Given the description of an element on the screen output the (x, y) to click on. 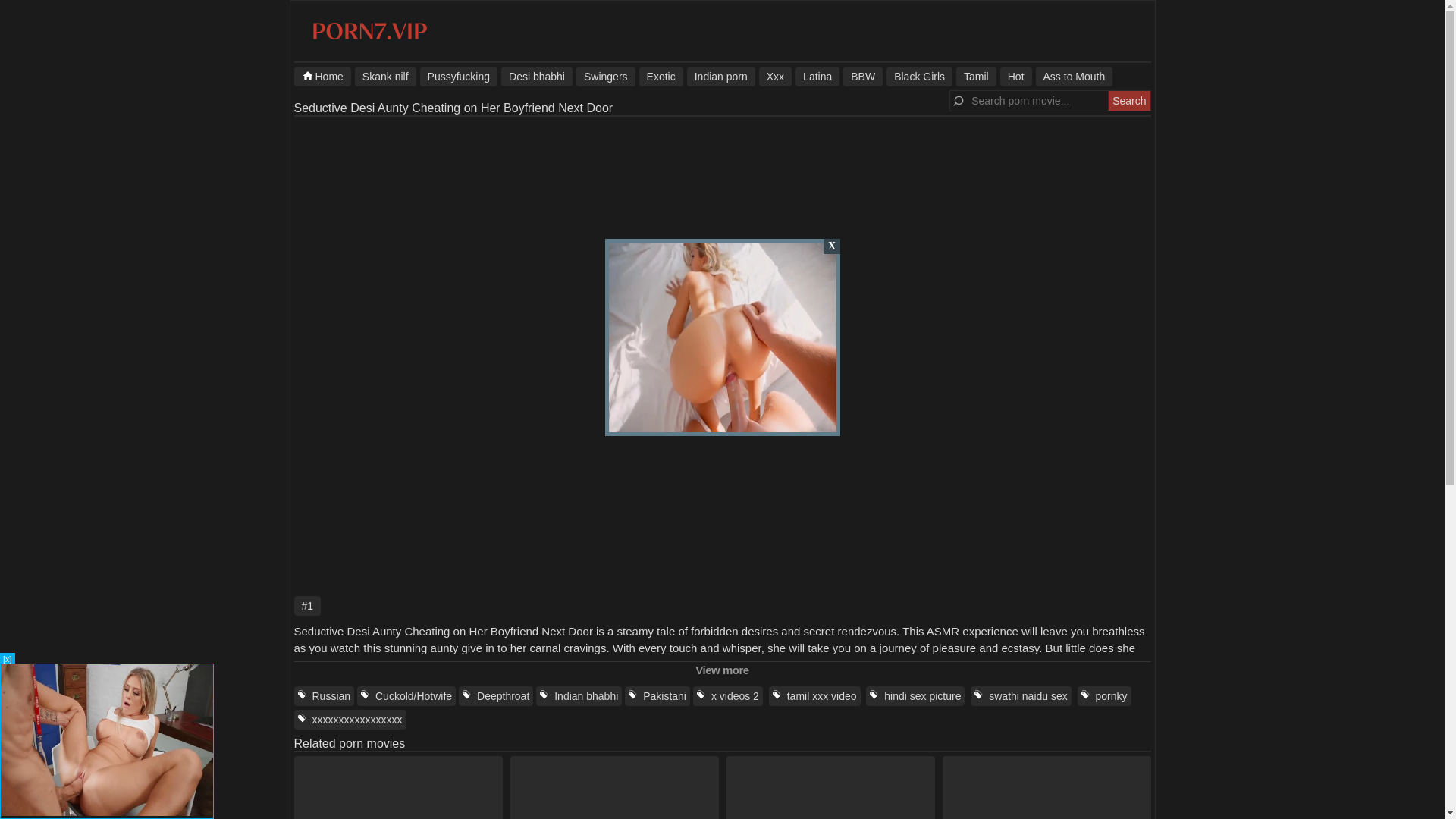
swathi naidu sex (1021, 695)
Desi bhabhi (536, 76)
Search (1129, 100)
Pussyfucking (458, 76)
Russian (324, 695)
x videos 2 (727, 695)
Latina (817, 76)
Search (1129, 100)
Xxx (775, 76)
tamil xxx video (814, 695)
Exotic (660, 76)
in.porn7.vip (369, 38)
pornky (1104, 695)
Ass to Mouth (1074, 76)
BBW (862, 76)
